Given the description of an element on the screen output the (x, y) to click on. 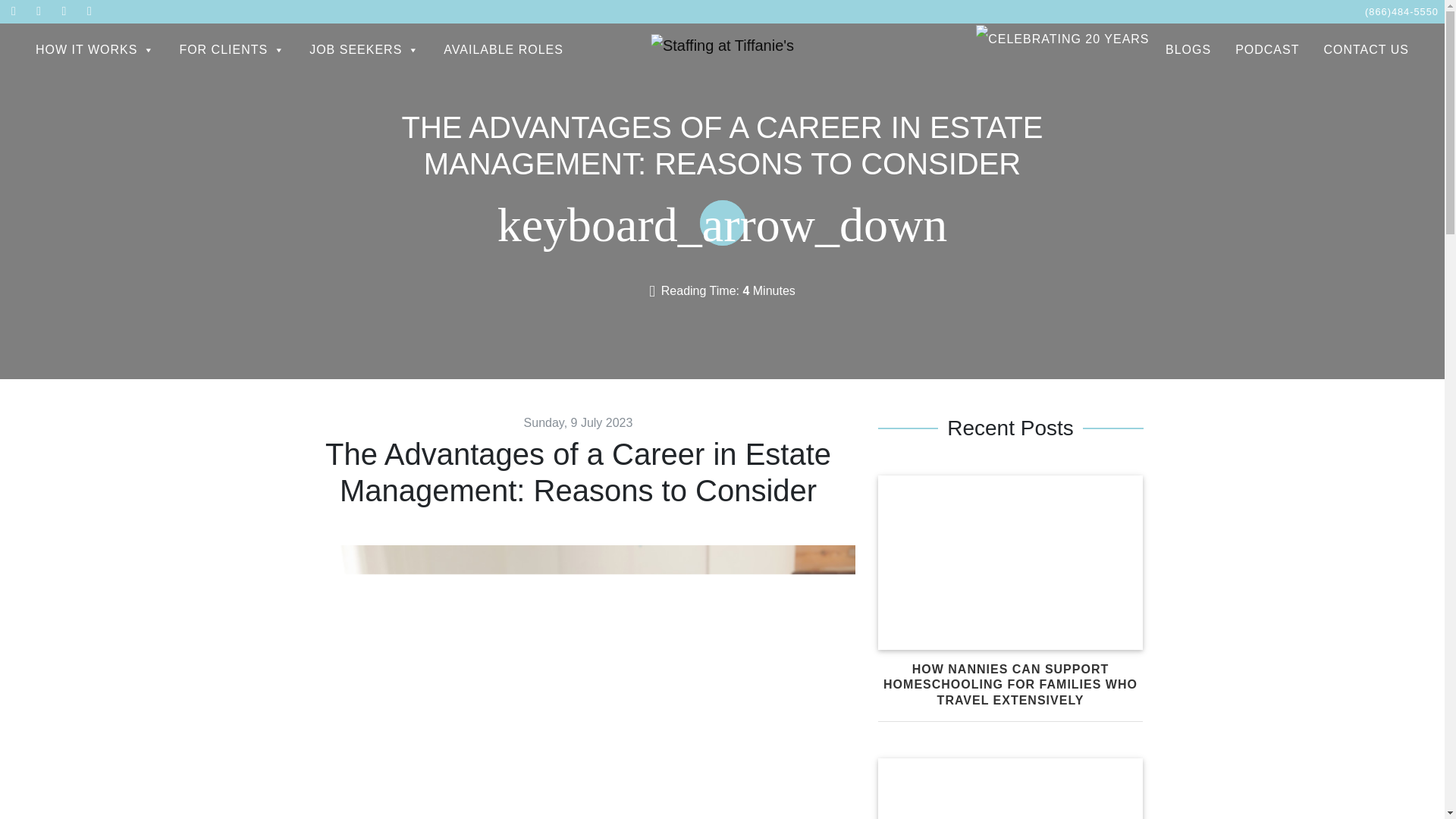
HOW IT WORKS (95, 49)
FOR CLIENTS (232, 49)
BLOGS (1188, 49)
Staffing At Tiffanies (721, 44)
JOB SEEKERS (363, 49)
AVAILABLE ROLES (502, 49)
